Given the description of an element on the screen output the (x, y) to click on. 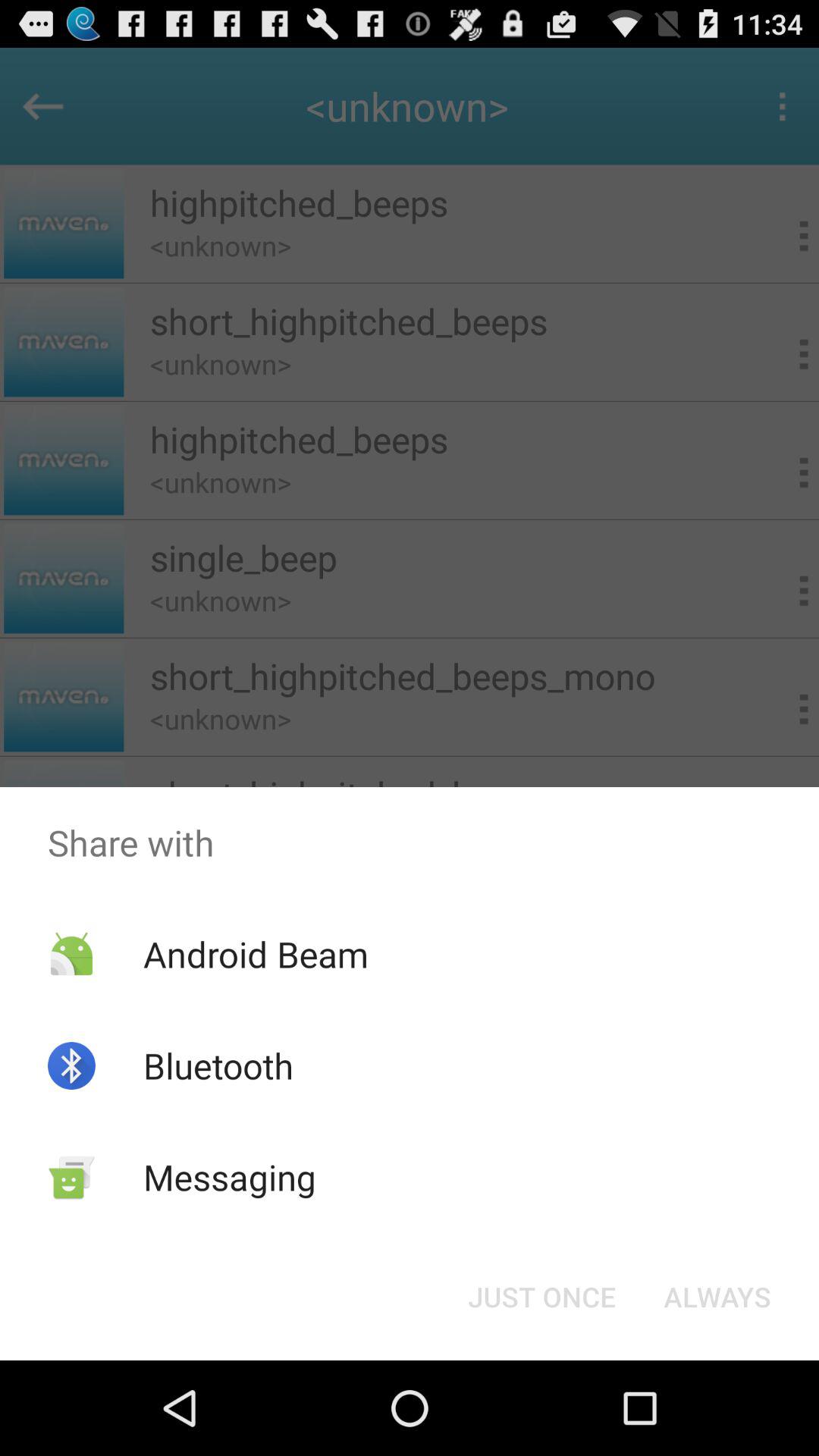
swipe to the android beam icon (255, 953)
